Given the description of an element on the screen output the (x, y) to click on. 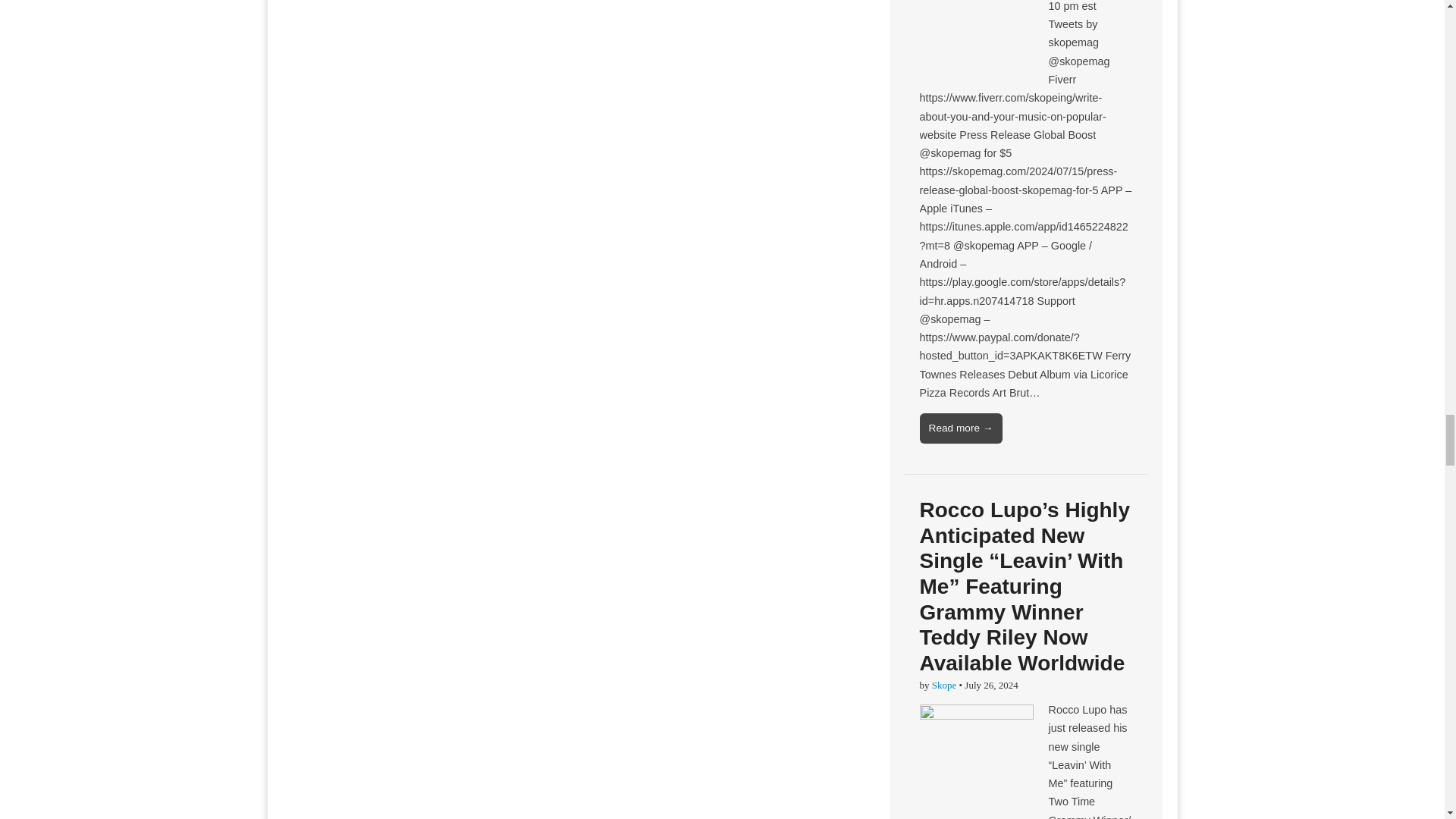
Posts by Skope (943, 685)
